Given the description of an element on the screen output the (x, y) to click on. 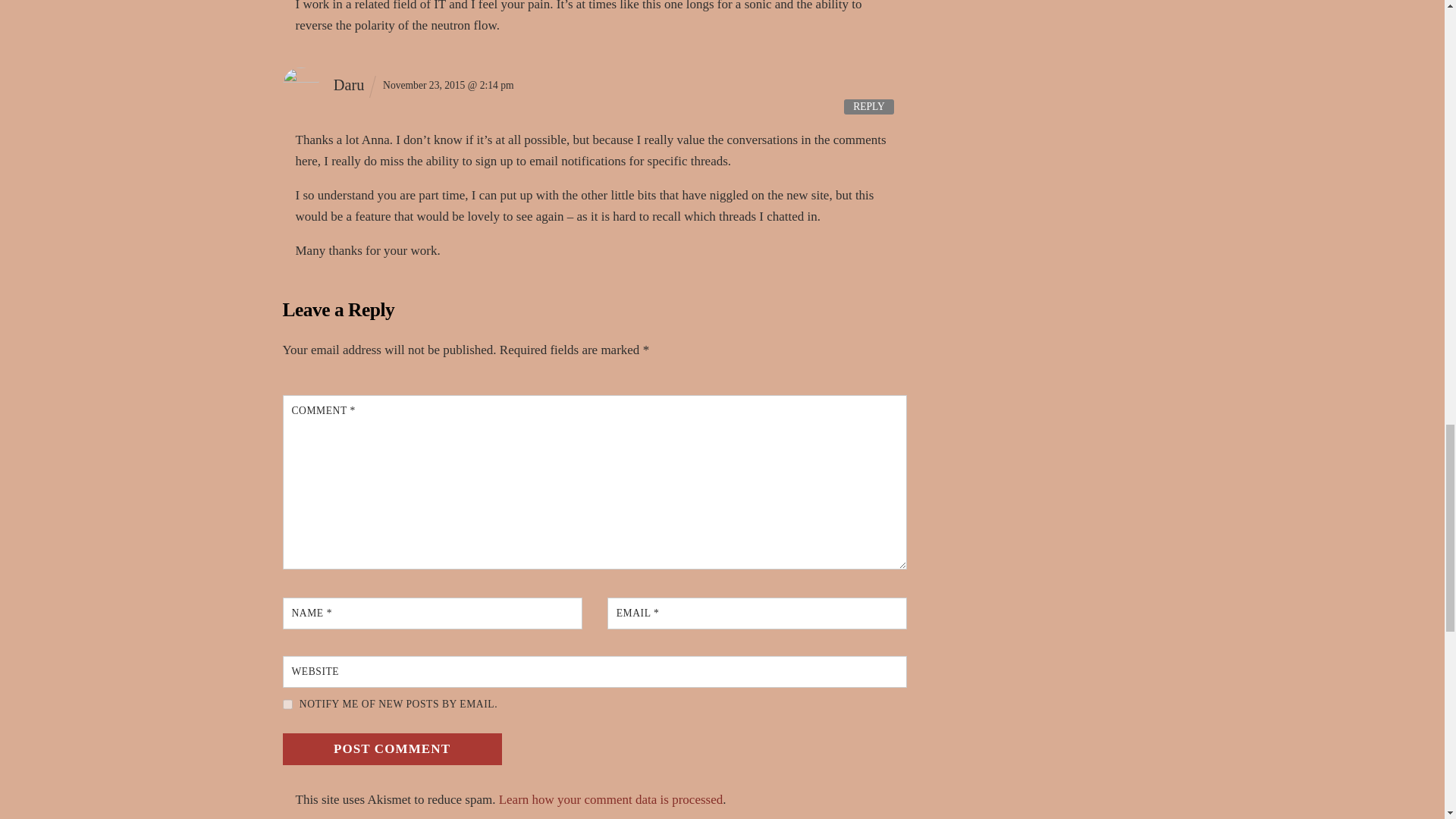
Post Comment (391, 748)
subscribe (287, 703)
